Given the description of an element on the screen output the (x, y) to click on. 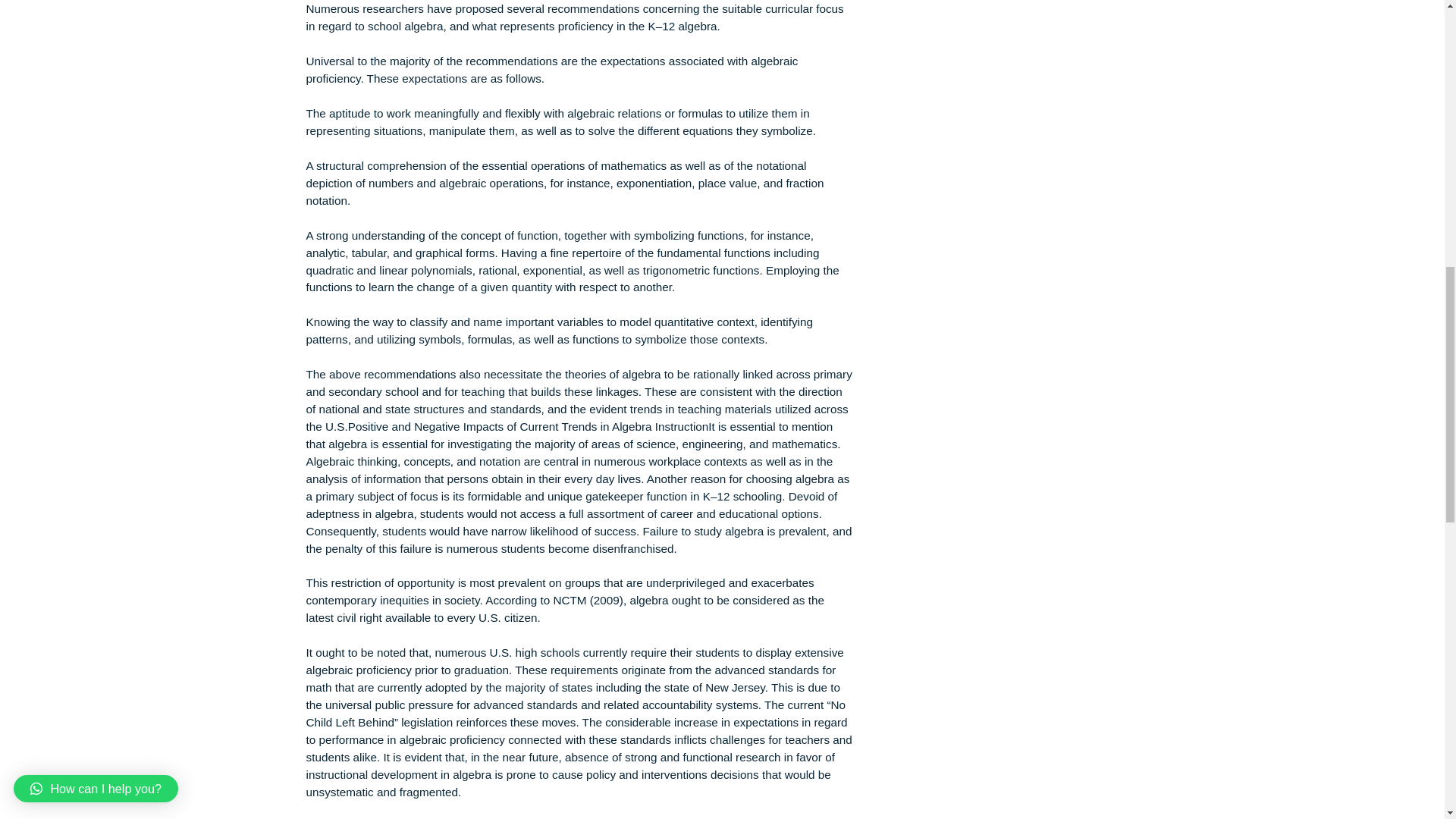
How can I help you? (106, 57)
